Given the description of an element on the screen output the (x, y) to click on. 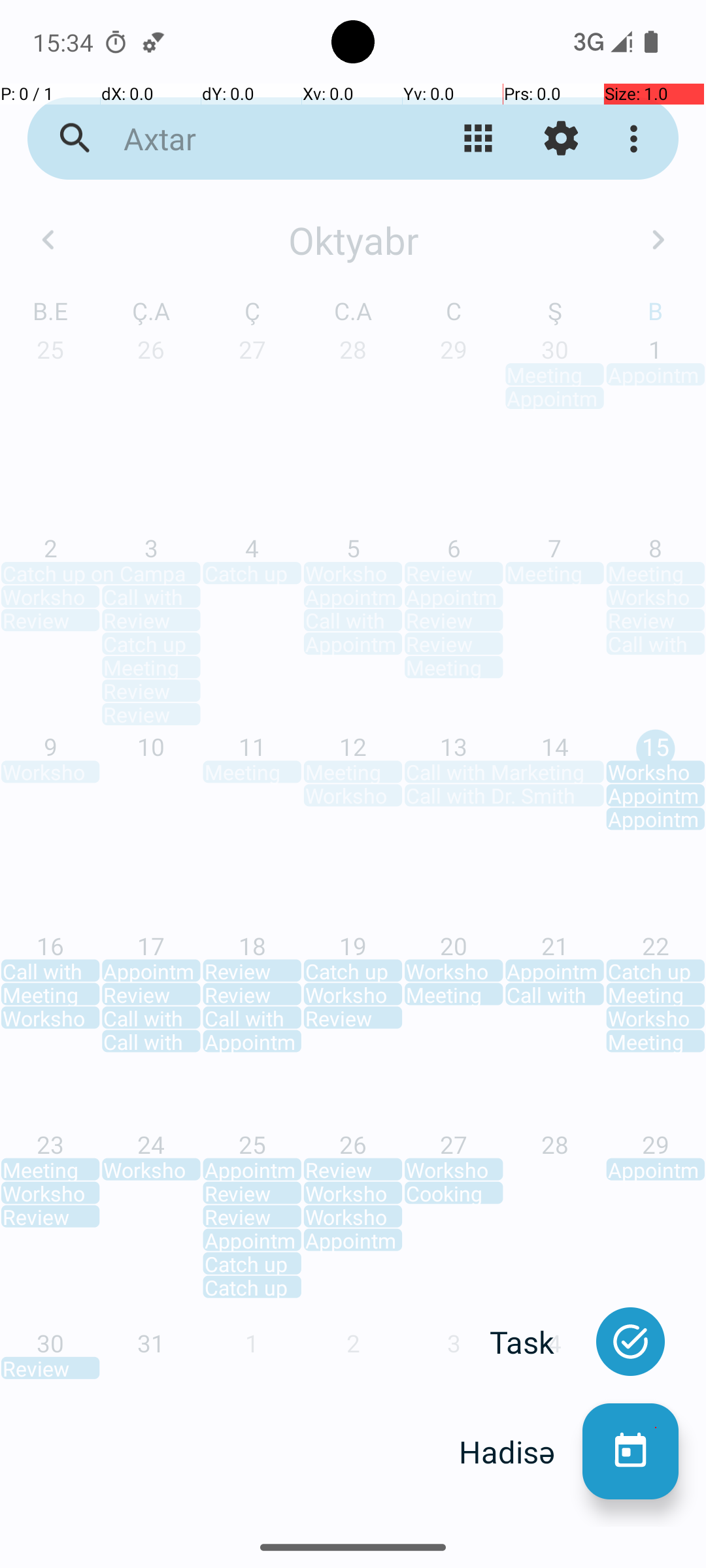
Axtar Element type: android.widget.EditText (252, 138)
Görünüşü dəyiş Element type: android.widget.Button (477, 138)
Digər seçimlər Element type: android.widget.ImageView (636, 138)
Hadisə Element type: android.widget.TextView (520, 1451)
Yeni Hadisə Element type: android.widget.ImageButton (630, 1451)
Oktyabr Element type: android.widget.TextView (352, 239)
